Given the description of an element on the screen output the (x, y) to click on. 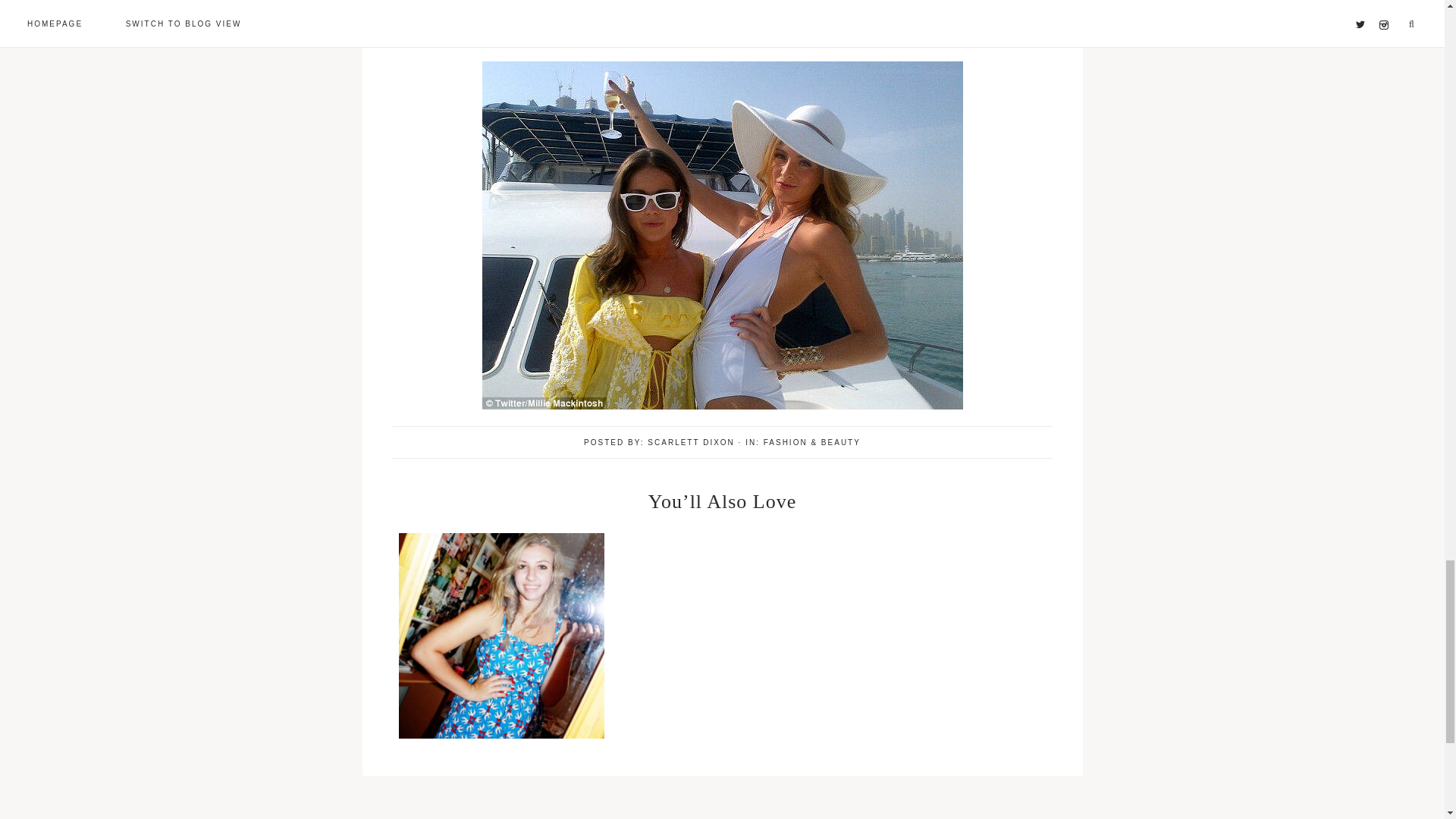
SCARLETT DIXON (691, 442)
Permanent Link to Saturday 6th August (501, 734)
